Given the description of an element on the screen output the (x, y) to click on. 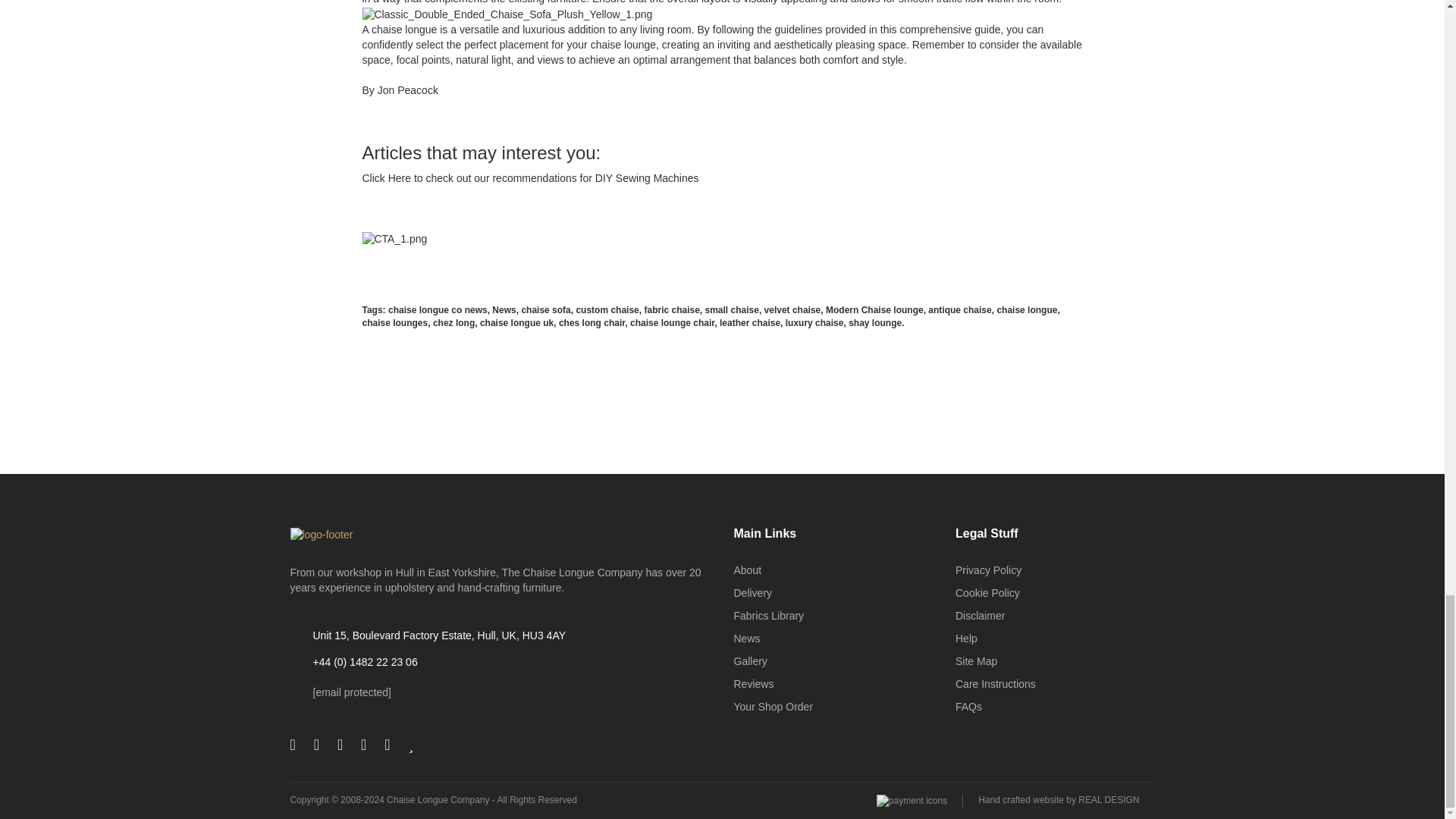
chez long (453, 322)
Jon Peacock (407, 90)
Search entries with this tag (503, 309)
ches long chair (591, 322)
custom chaise (607, 309)
Modern Chaise lounge (874, 309)
chaise sofa (545, 309)
small chaise (731, 309)
chaise lounges (395, 322)
